Given the description of an element on the screen output the (x, y) to click on. 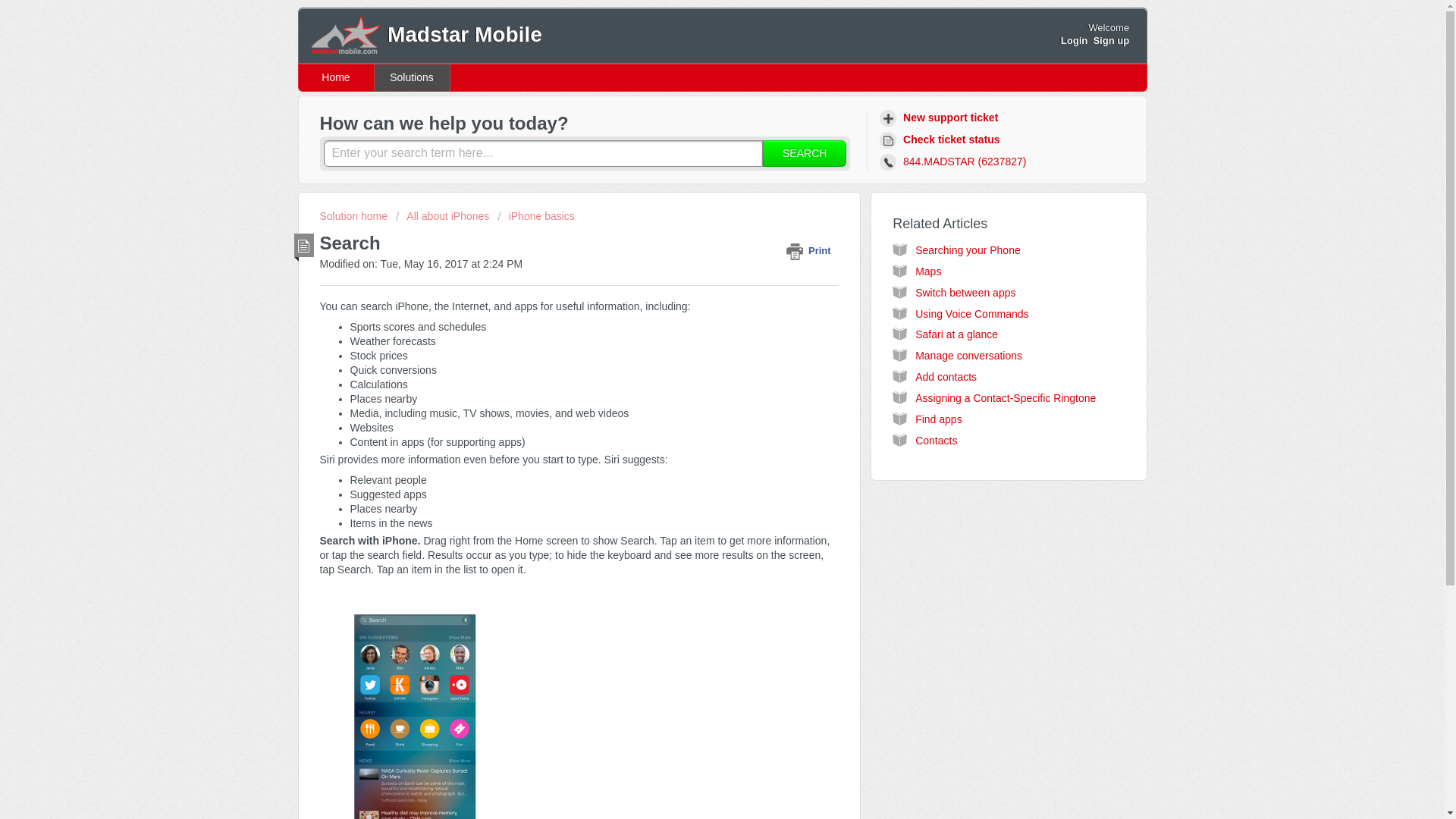
Print this Article (812, 250)
Contacts (935, 440)
Searching your Phone (967, 250)
Assigning a Contact-Specific Ringtone (1005, 398)
Add contacts (945, 377)
Sign up (1111, 40)
Find apps (937, 419)
Maps (927, 271)
Safari at a glance (956, 334)
New support ticket (940, 117)
Using Voice Commands (971, 313)
Switch between apps (964, 292)
Check ticket status (941, 139)
Print (812, 250)
Login (1074, 40)
